Given the description of an element on the screen output the (x, y) to click on. 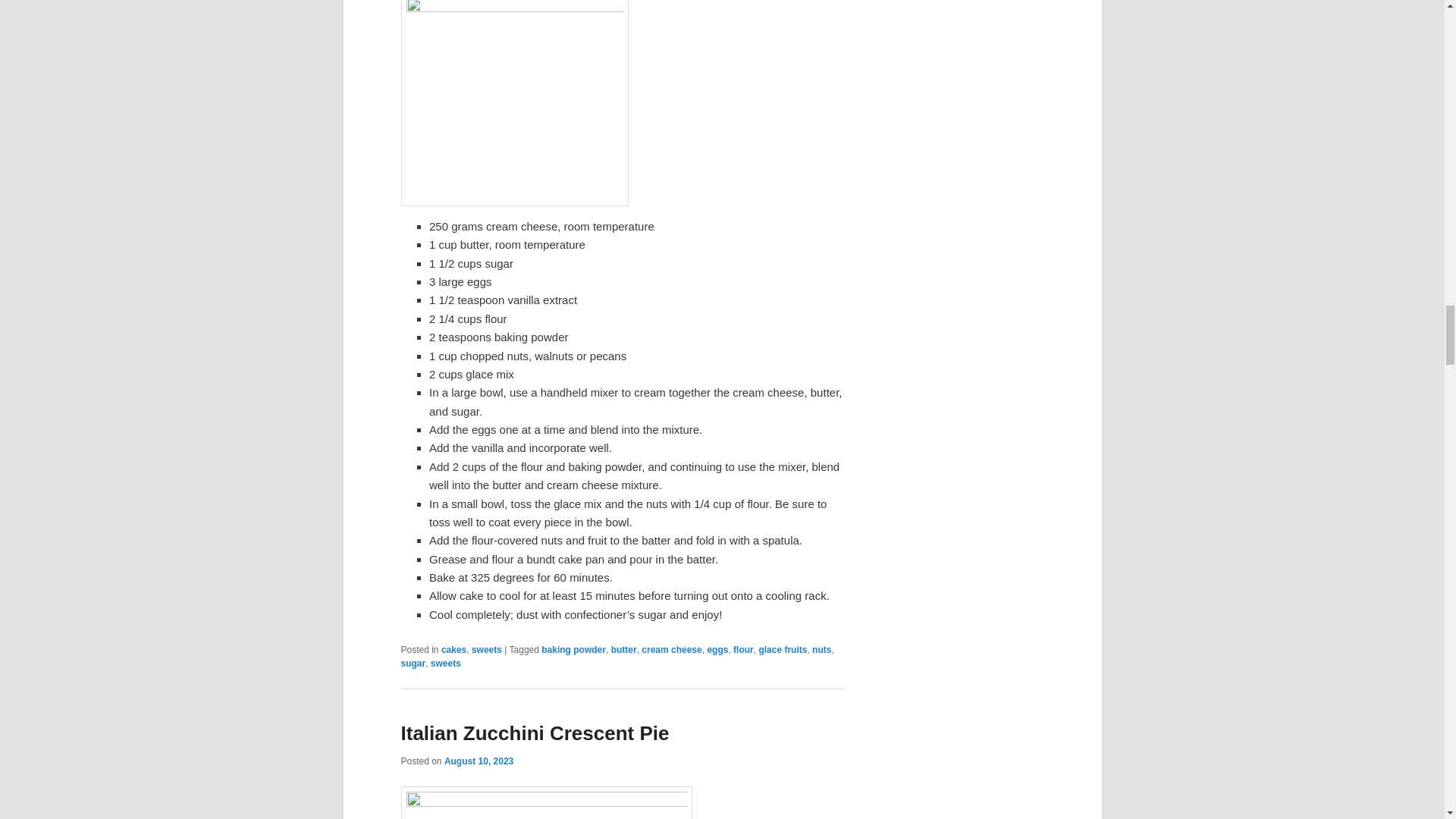
11:18 am (478, 760)
